Given the description of an element on the screen output the (x, y) to click on. 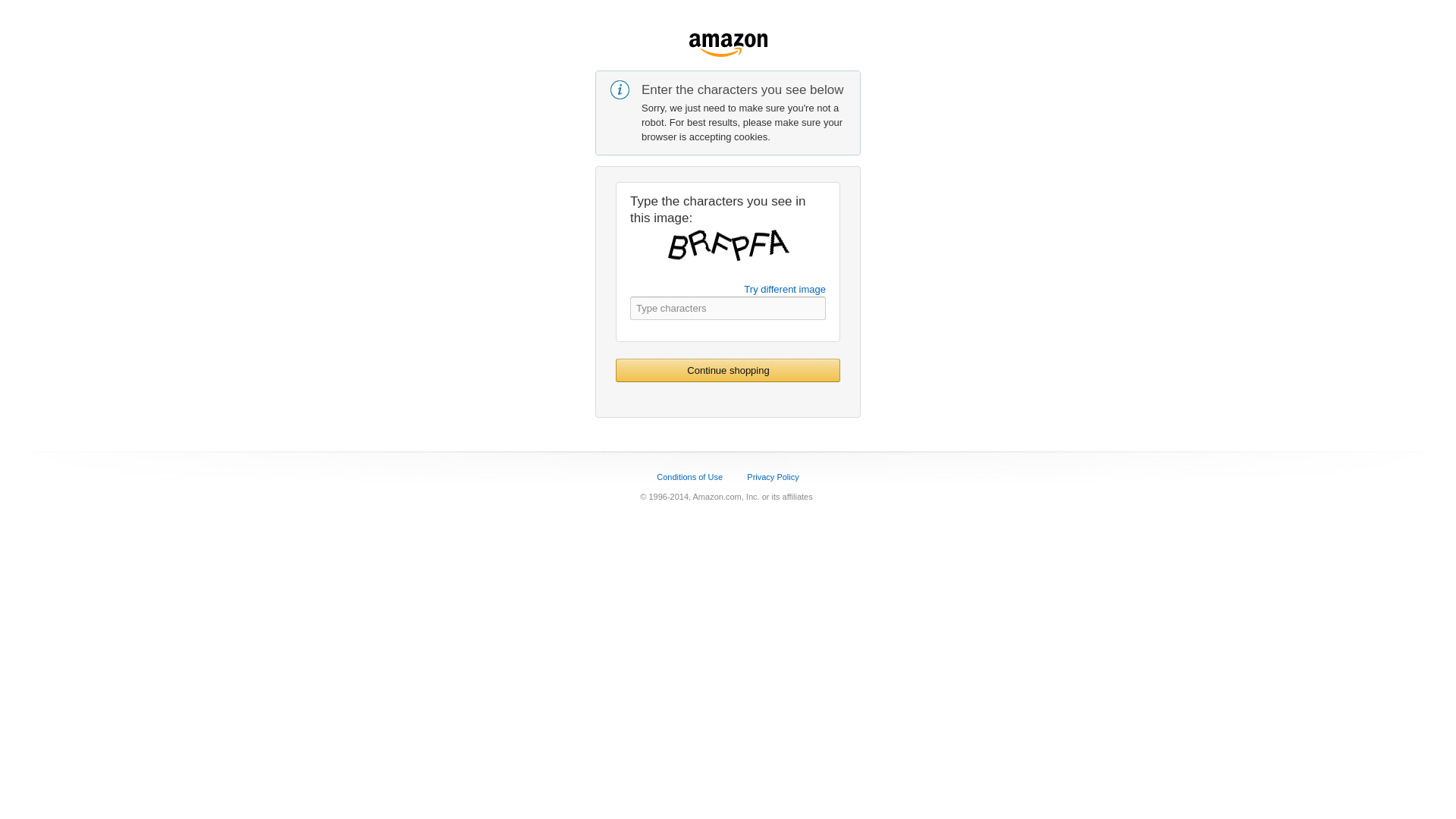
Continue shopping (727, 370)
Conditions of Use (689, 476)
Privacy Policy (771, 476)
Try different image (784, 288)
